Given the description of an element on the screen output the (x, y) to click on. 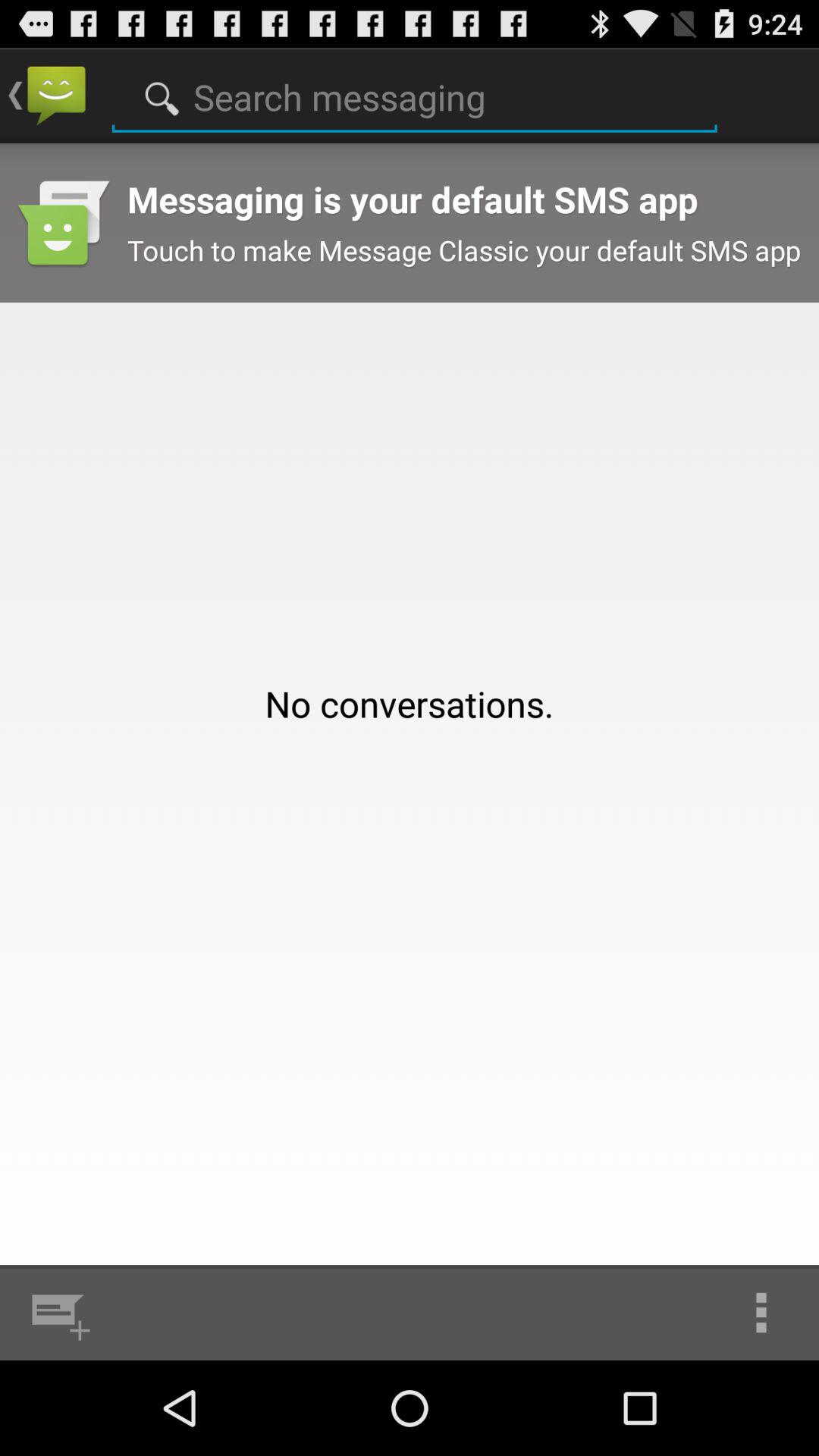
turn off the icon below the no conversations. icon (58, 1312)
